Given the description of an element on the screen output the (x, y) to click on. 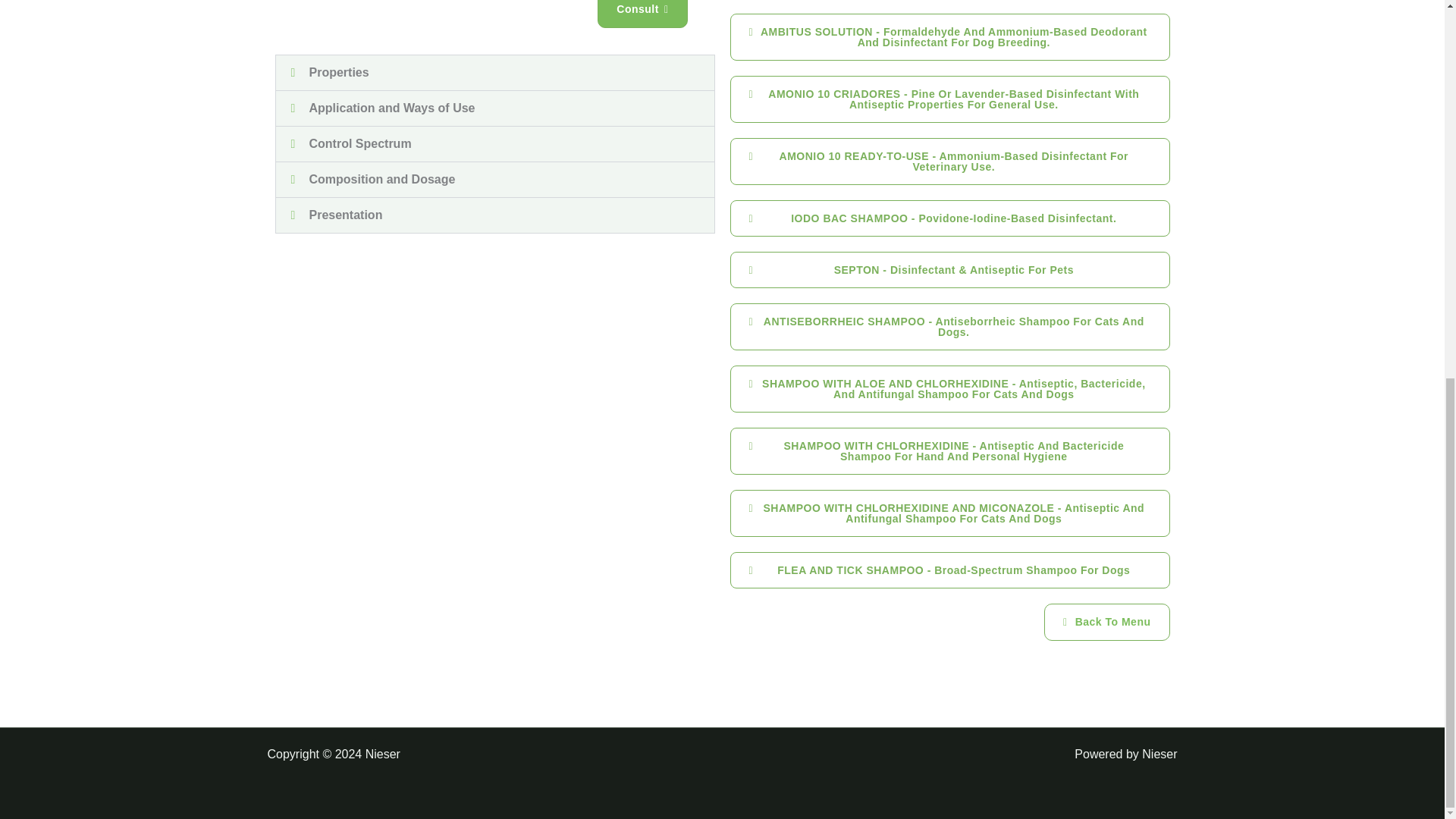
IODO BAC SHAMPOO - Povidone-Iodine-Based Disinfectant. (949, 217)
Application and Ways of Use (392, 107)
Properties (338, 72)
Consult (641, 13)
Composition and Dosage (381, 178)
FLEA AND TICK SHAMPOO - Broad-Spectrum Shampoo For Dogs (949, 570)
